Given the description of an element on the screen output the (x, y) to click on. 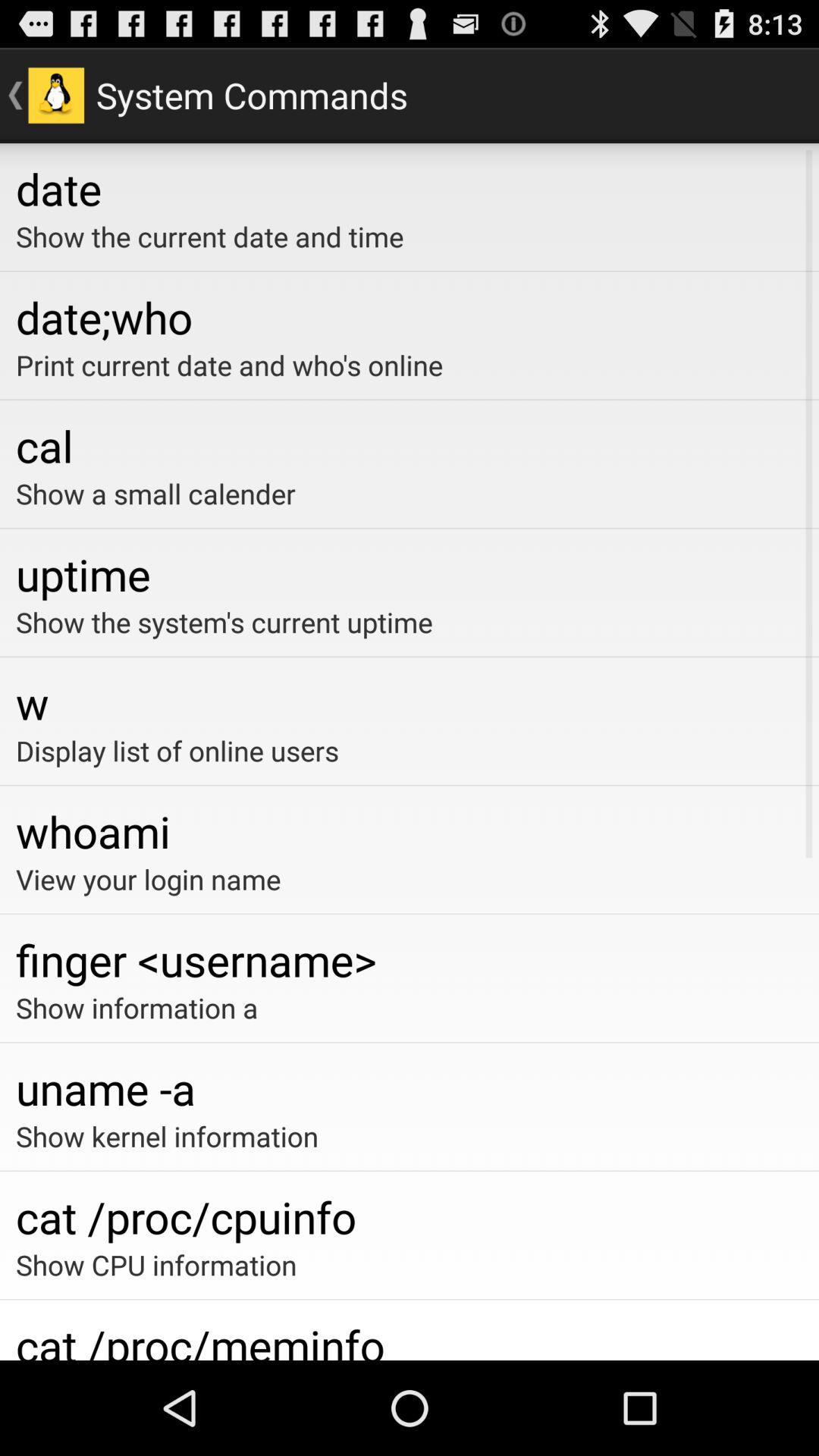
choose the app below print current date app (409, 445)
